Given the description of an element on the screen output the (x, y) to click on. 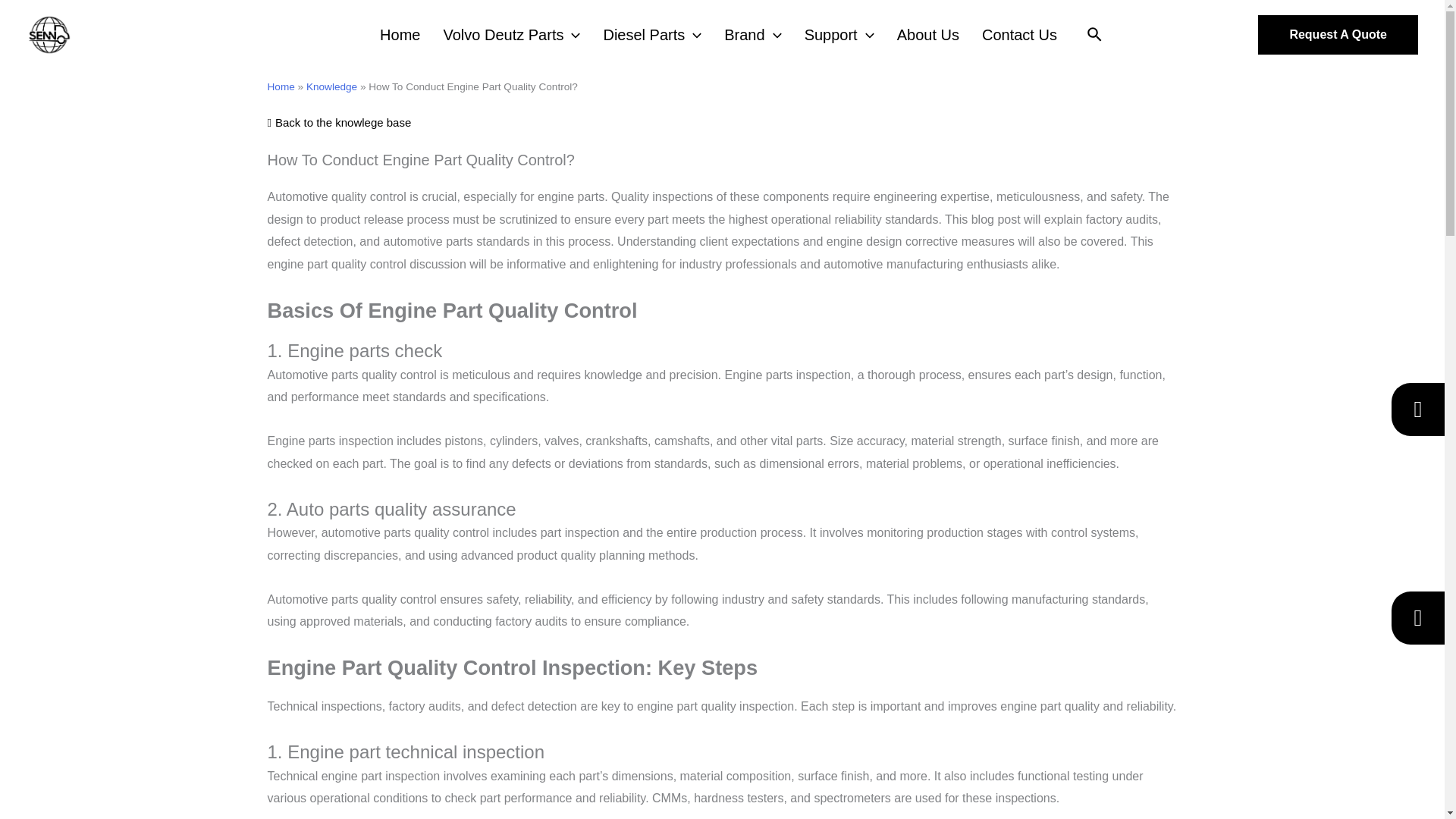
Diesel Parts (655, 34)
Contact Us (1022, 34)
Home (403, 34)
Support (842, 34)
About Us (931, 34)
Brand (756, 34)
Volvo Deutz Parts (515, 34)
Request A Quote (1337, 34)
